Given the description of an element on the screen output the (x, y) to click on. 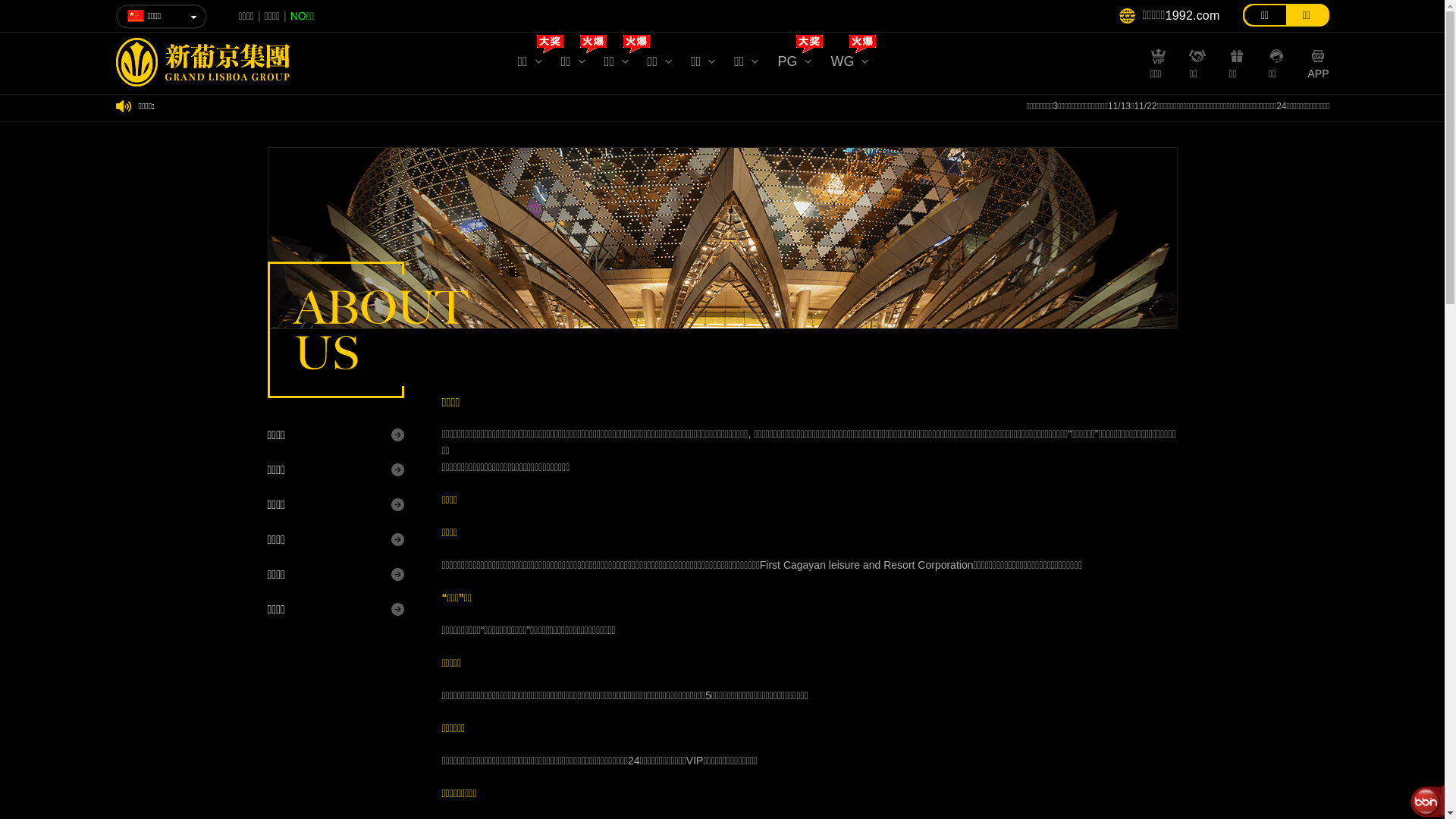
PG Element type: text (794, 65)
APP Element type: text (1317, 71)
WG Element type: text (849, 65)
